Given the description of an element on the screen output the (x, y) to click on. 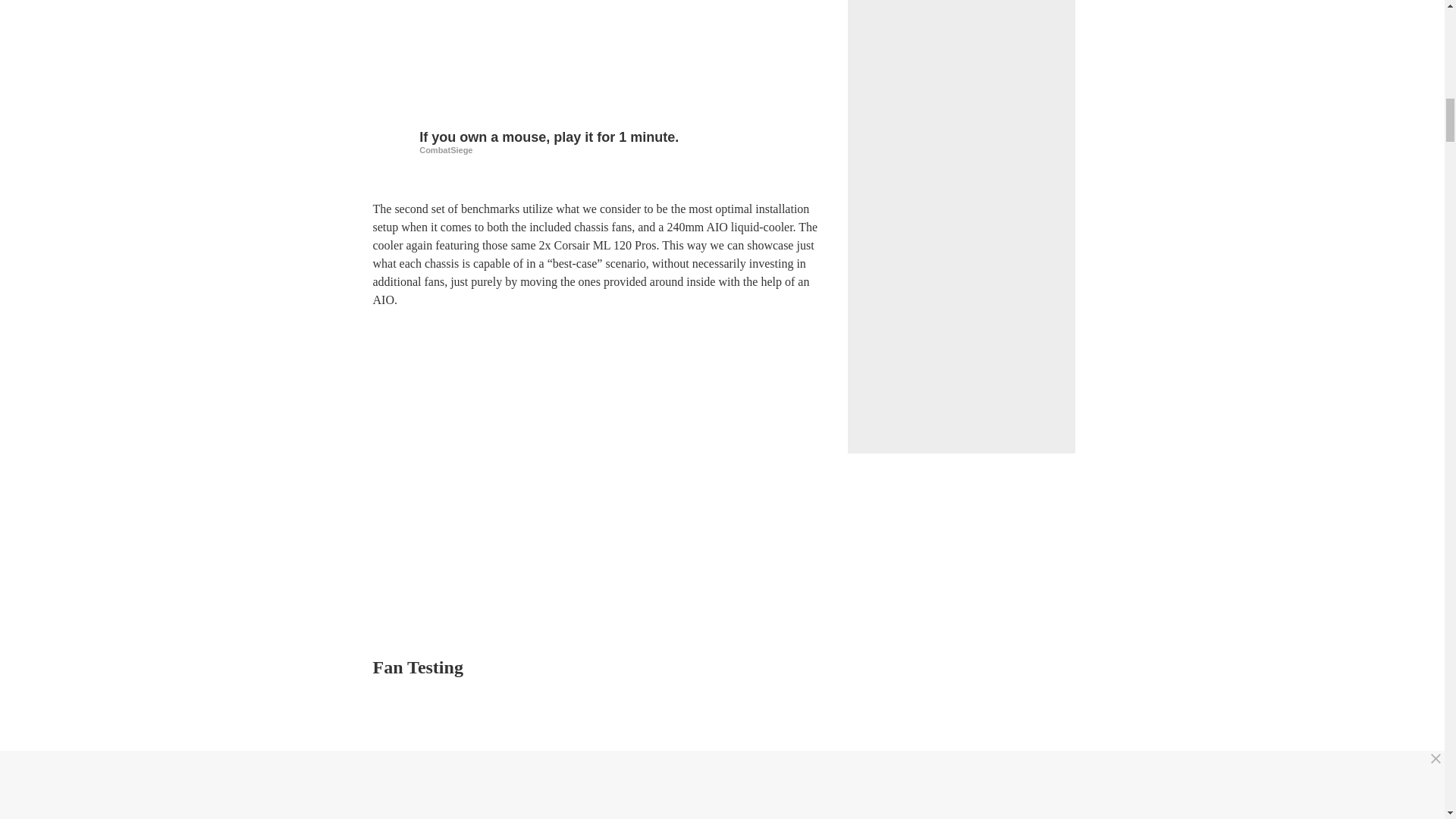
If you own a mouse, play it for 1 minute. (601, 140)
